Given the description of an element on the screen output the (x, y) to click on. 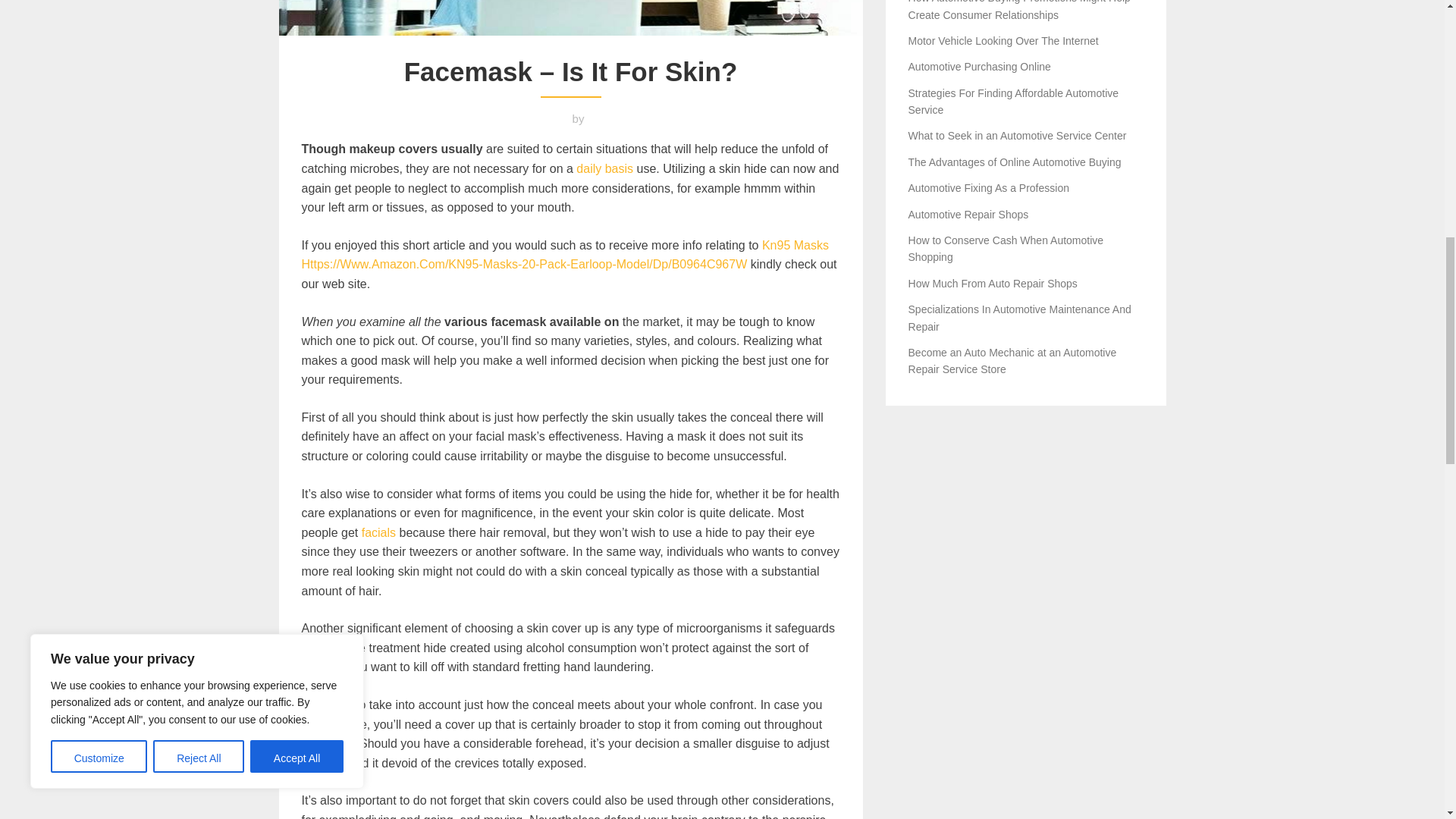
Strategies For Finding Affordable Automotive Service (1013, 101)
daily basis (604, 168)
Motor Vehicle Looking Over The Internet (1003, 40)
Automotive Purchasing Online (979, 66)
facials (378, 532)
